Given the description of an element on the screen output the (x, y) to click on. 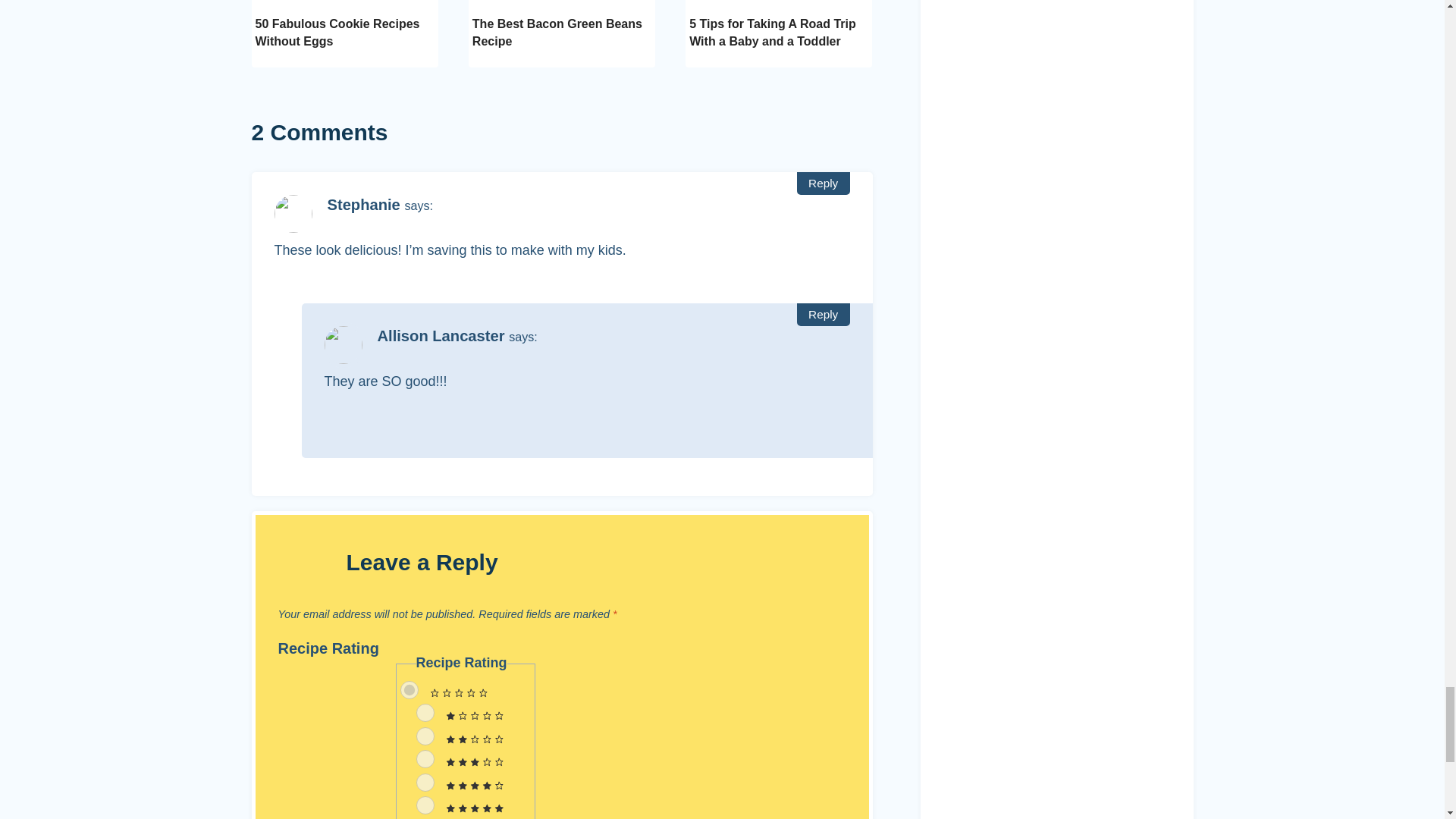
0 (409, 689)
4 (423, 782)
3 (423, 759)
1 (423, 712)
5 (423, 805)
2 (423, 736)
